Given the description of an element on the screen output the (x, y) to click on. 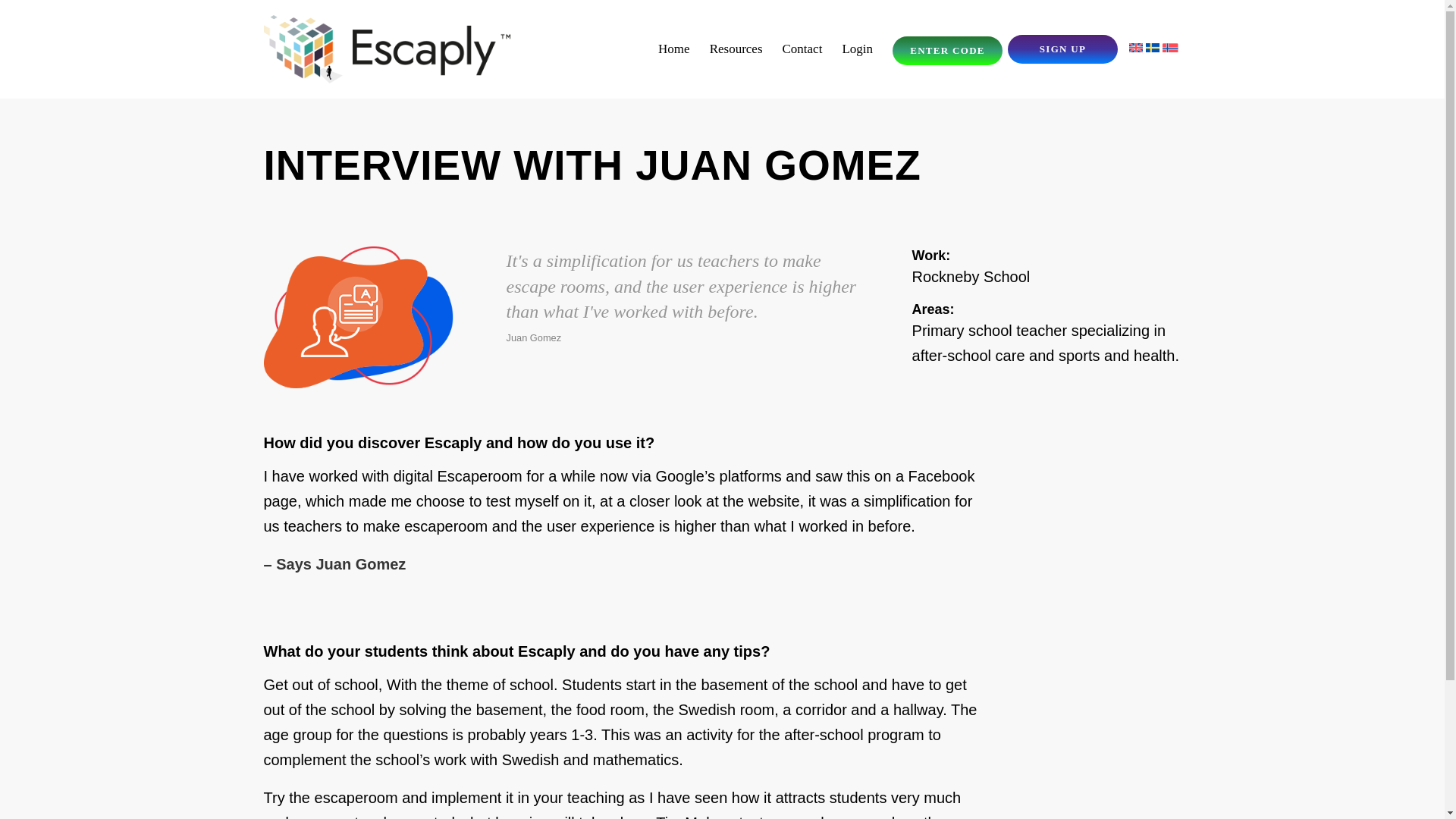
ENTER CODE (946, 70)
Svenska (1151, 47)
Resources (736, 49)
English (1135, 47)
SIGN UP (1061, 69)
